Given the description of an element on the screen output the (x, y) to click on. 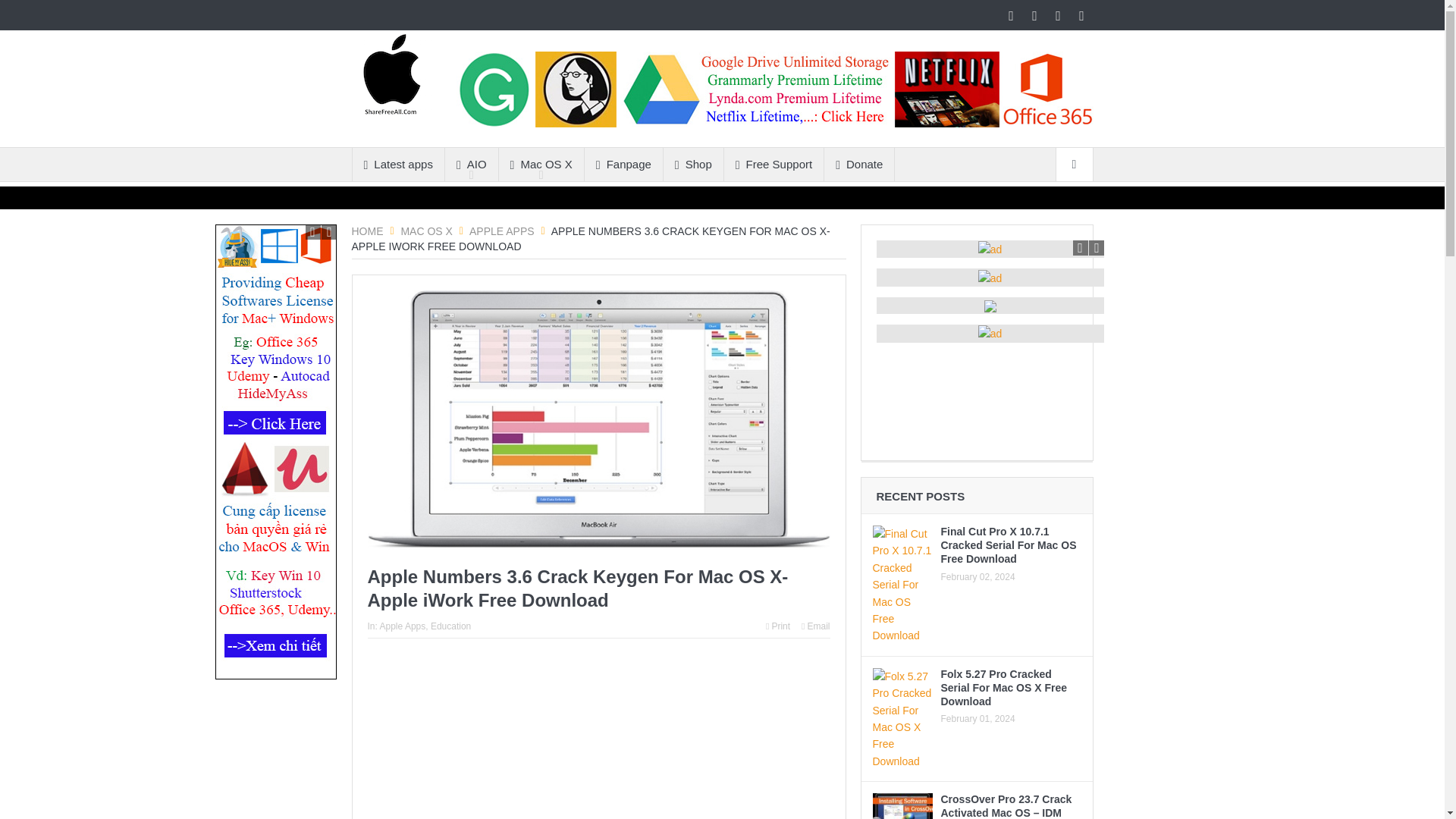
AIO (471, 164)
Mac OS X (541, 164)
Fanpage (623, 164)
Shop (693, 164)
View all posts in Apple Apps (403, 625)
Mac OS X (425, 231)
Latest apps (398, 164)
Donate (858, 164)
Free Support (773, 164)
Apple Apps (501, 231)
View all posts in Education (450, 625)
